Given the description of an element on the screen output the (x, y) to click on. 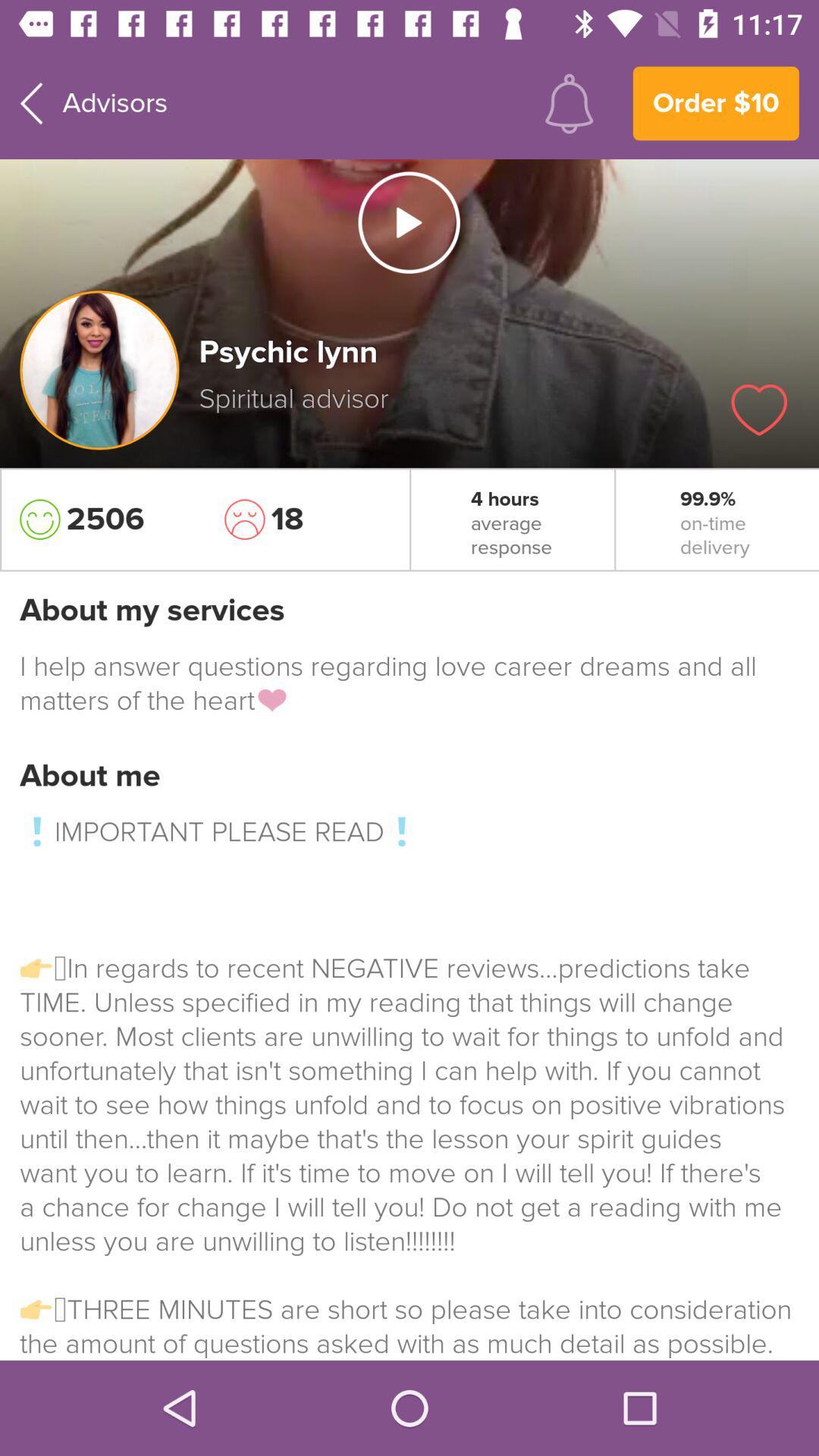
choose icon to the left of order $10 icon (569, 103)
